Given the description of an element on the screen output the (x, y) to click on. 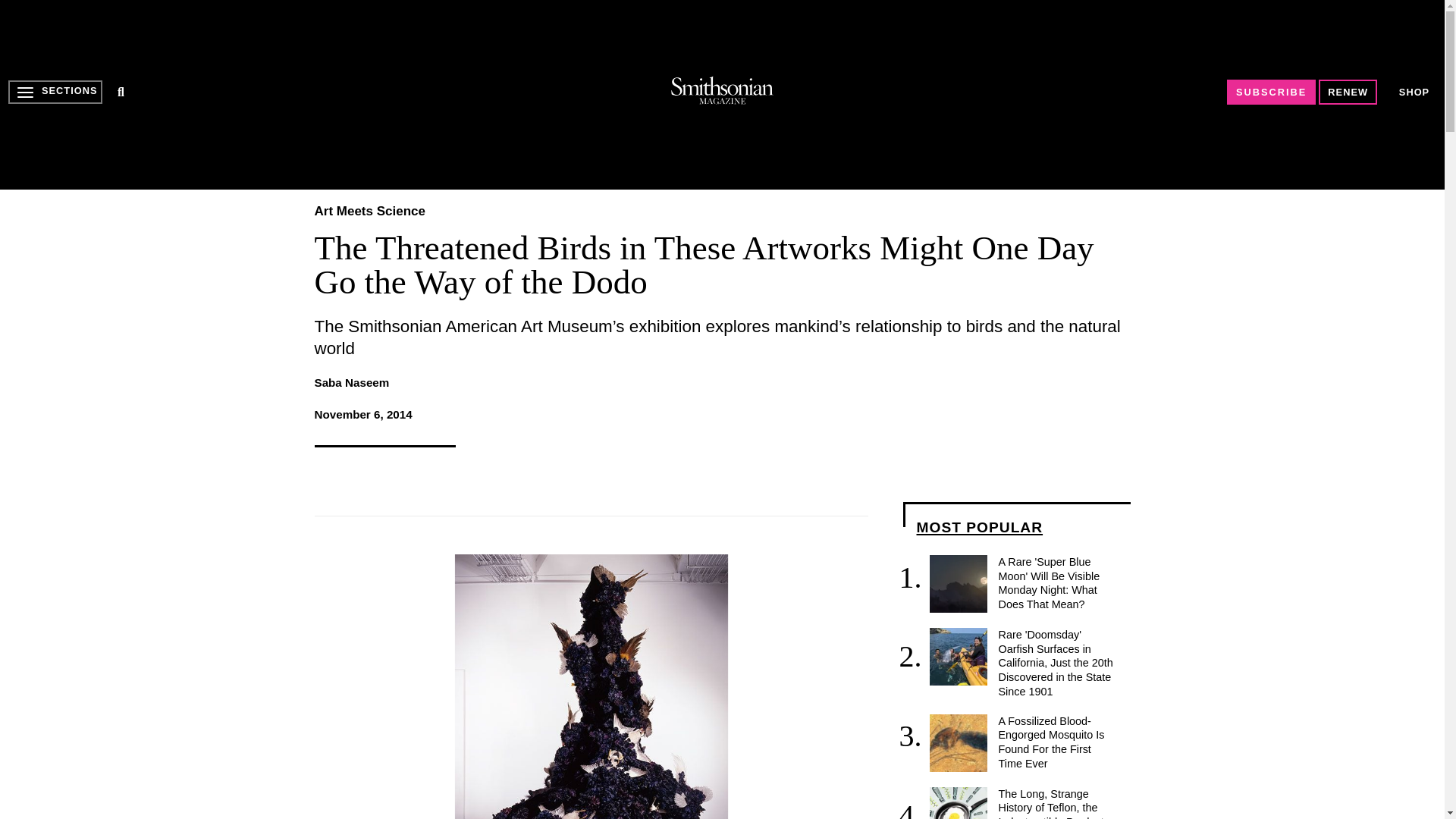
SECTIONS (55, 91)
RENEW (1347, 91)
SHOP (1414, 91)
SUBSCRIBE (1271, 91)
SUBSCRIBE (1271, 91)
SHOP (1413, 91)
3rd party ad content (721, 94)
RENEW (1348, 91)
